Given the description of an element on the screen output the (x, y) to click on. 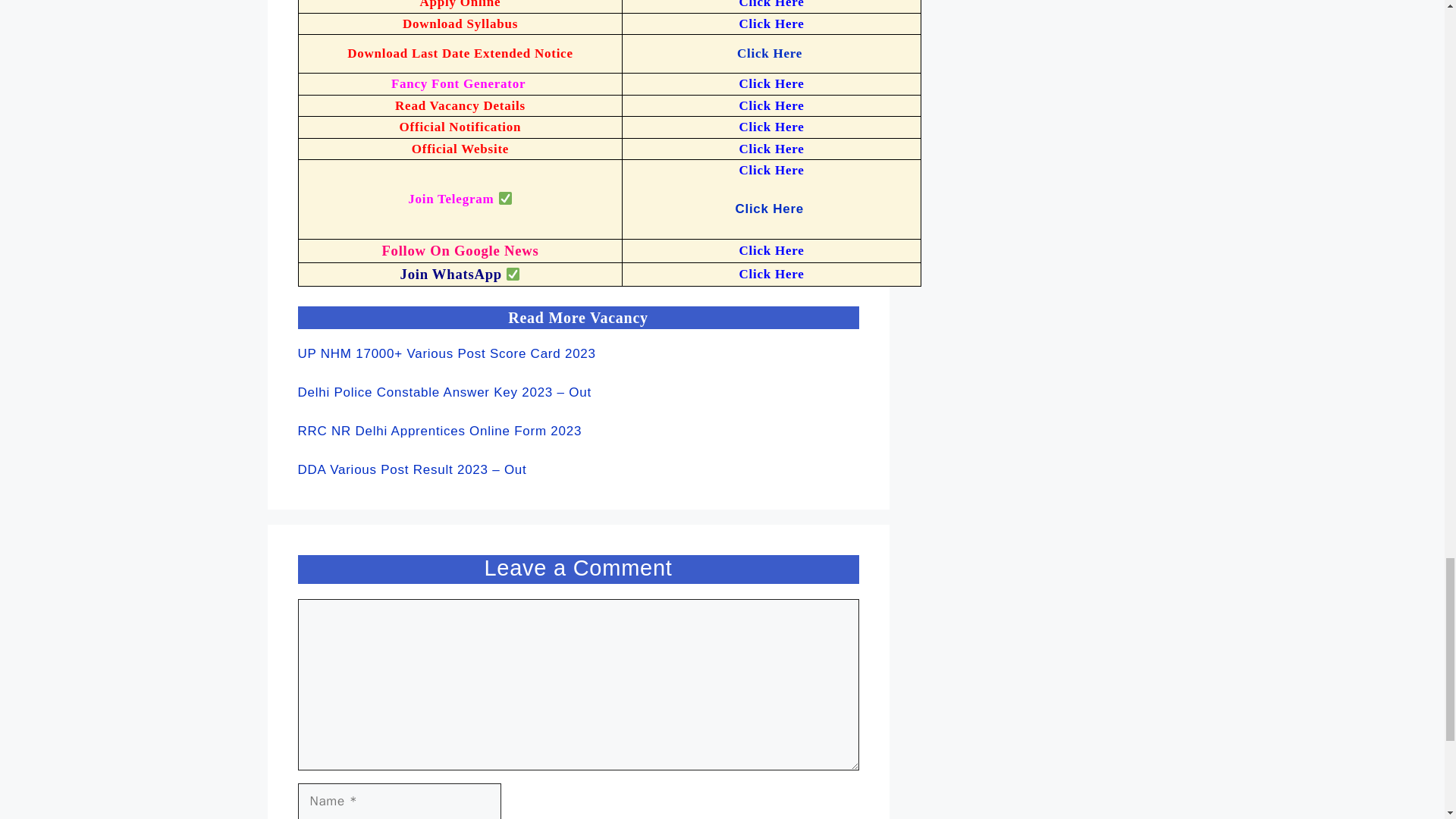
Click Here (770, 105)
Click Here (770, 126)
RRC NR Delhi Apprentices Online Form 2023 (438, 431)
Click Here (769, 52)
Click Here (770, 4)
Click Here (770, 273)
Click Here (770, 148)
Click Here (770, 83)
Click Here (770, 23)
Click Here  (771, 208)
Click Here (770, 250)
Click Here (770, 169)
